Given the description of an element on the screen output the (x, y) to click on. 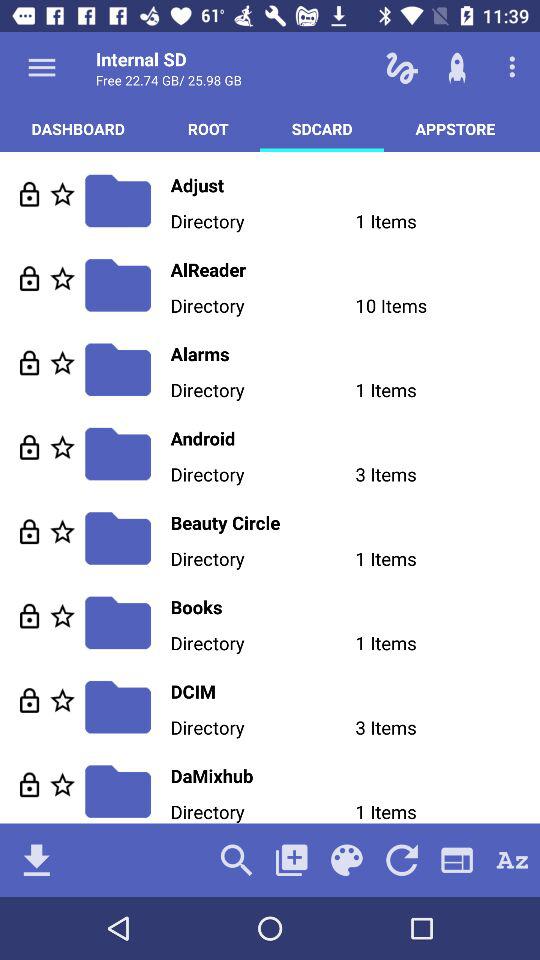
lock the folder (29, 700)
